Given the description of an element on the screen output the (x, y) to click on. 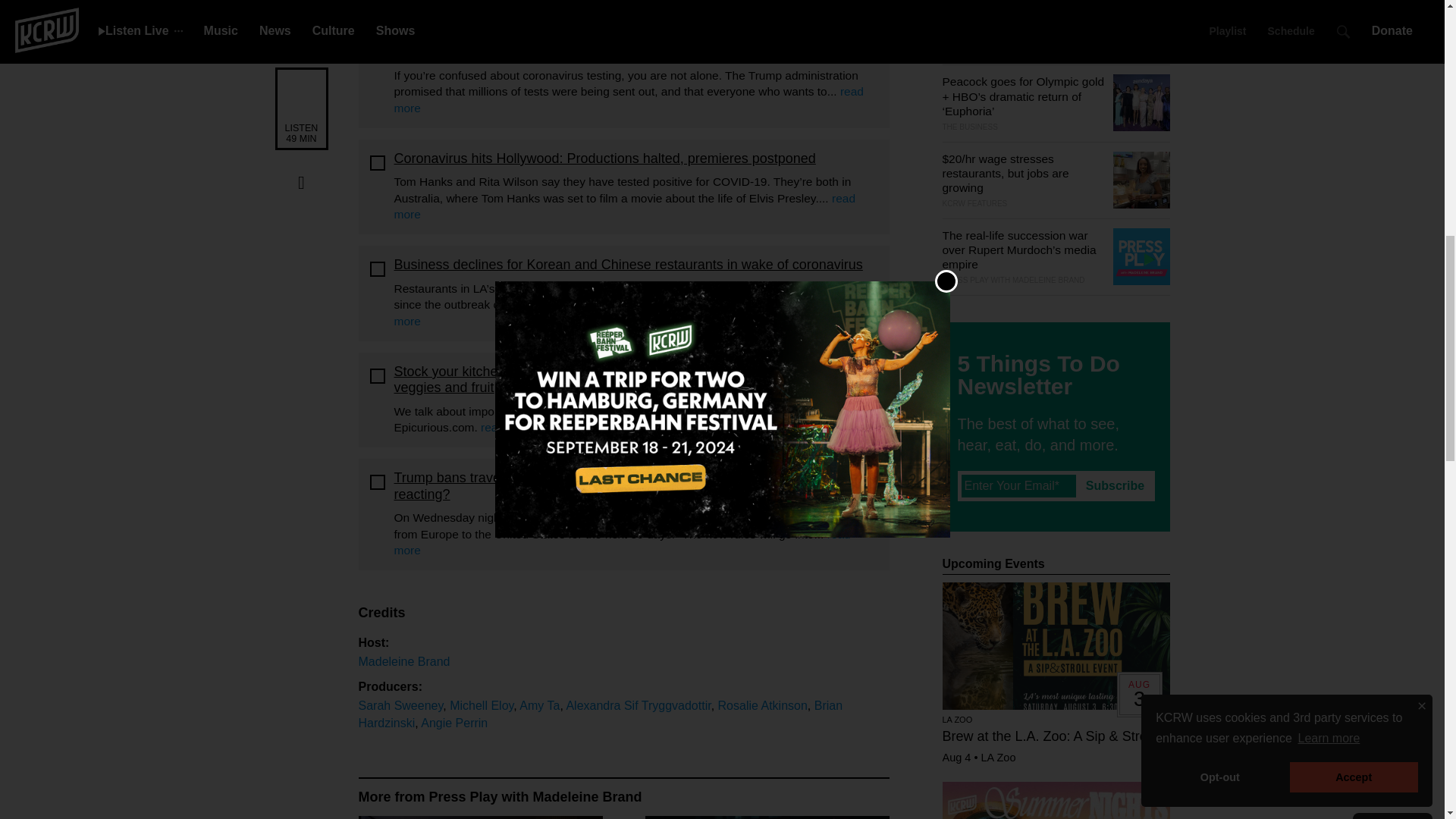
Subscribe (1114, 485)
